Given the description of an element on the screen output the (x, y) to click on. 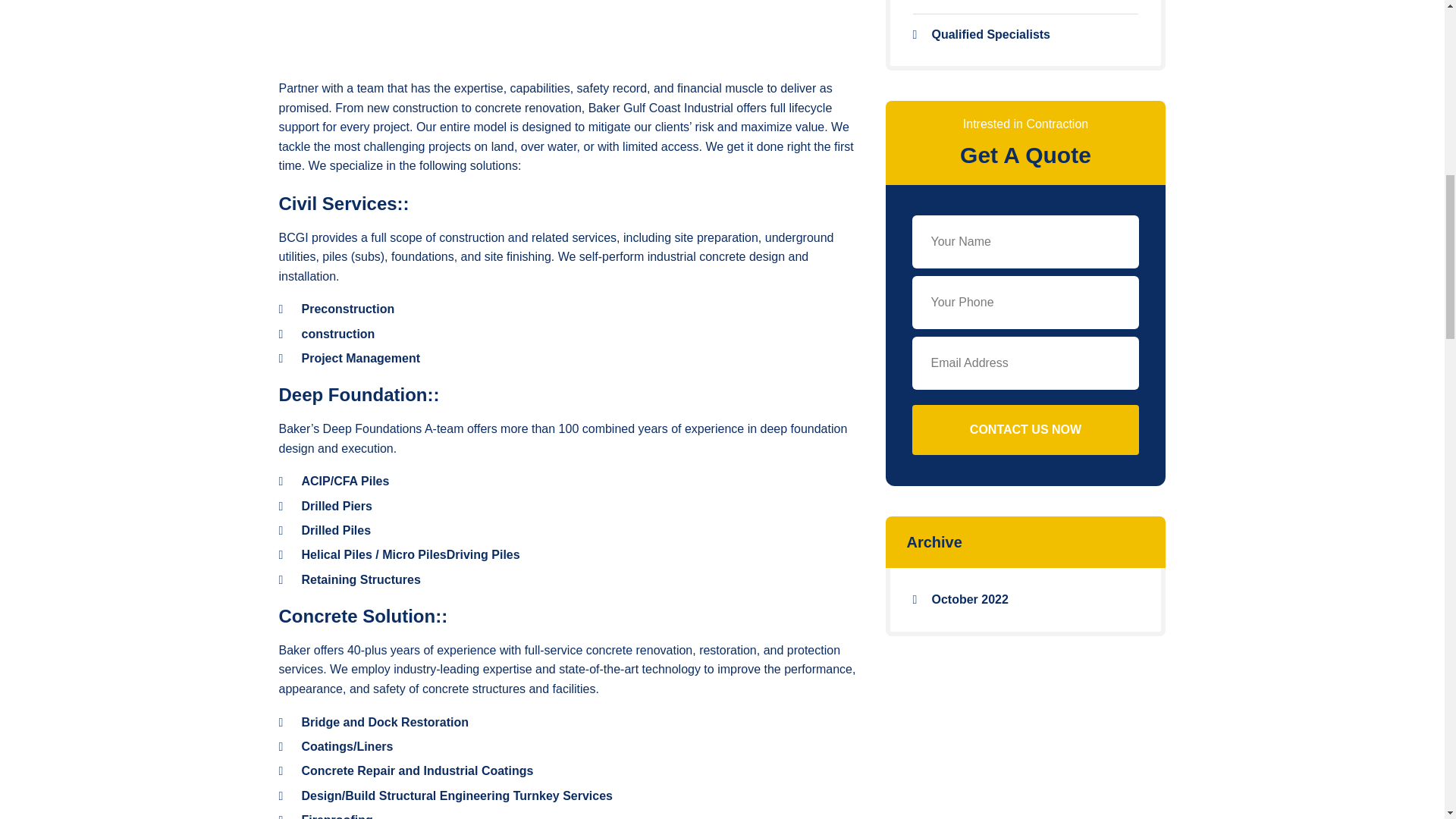
Qualified Specialists (1025, 34)
CONTACT US NOW (1024, 429)
